Given the description of an element on the screen output the (x, y) to click on. 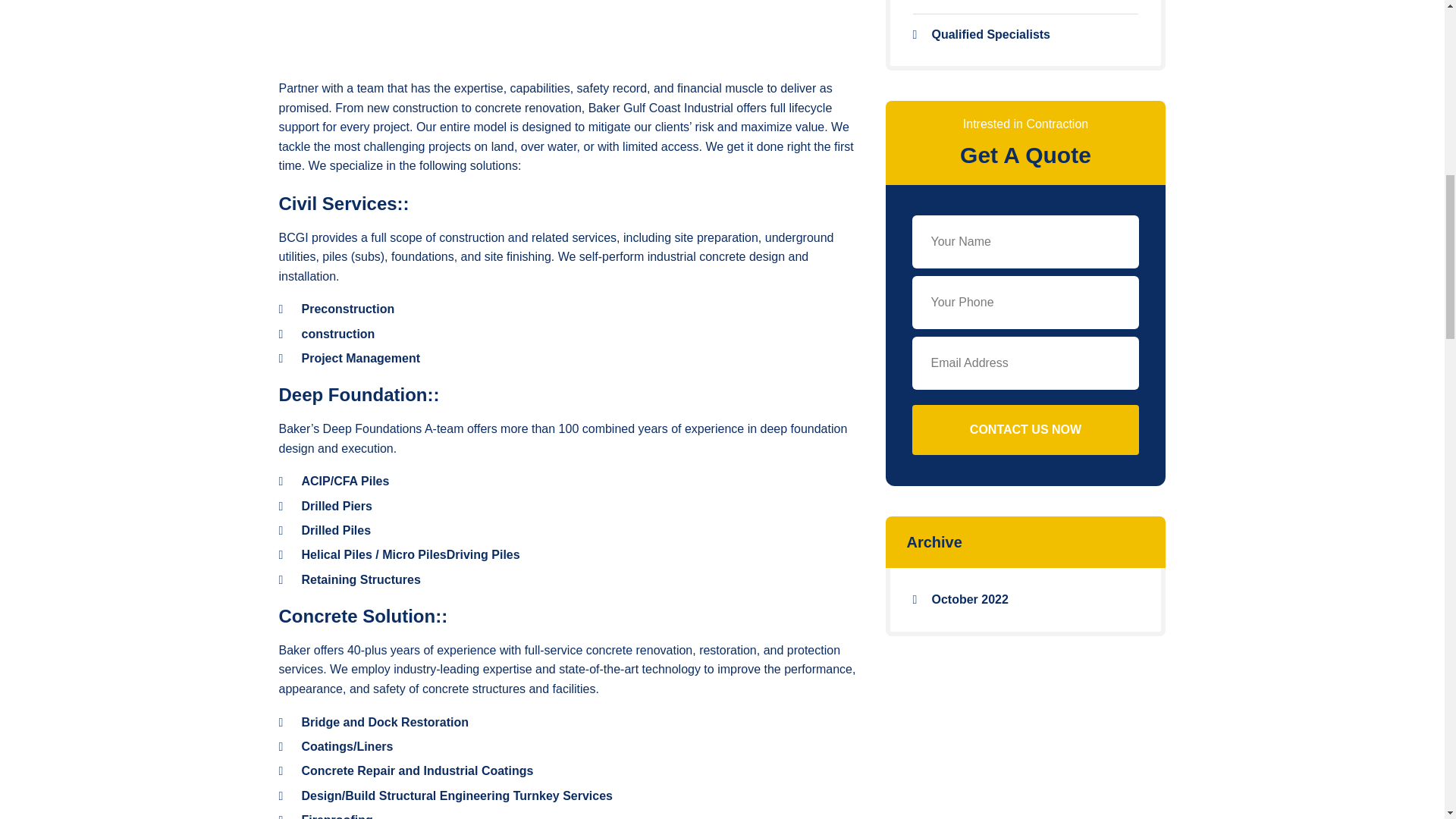
Qualified Specialists (1025, 34)
CONTACT US NOW (1024, 429)
